Given the description of an element on the screen output the (x, y) to click on. 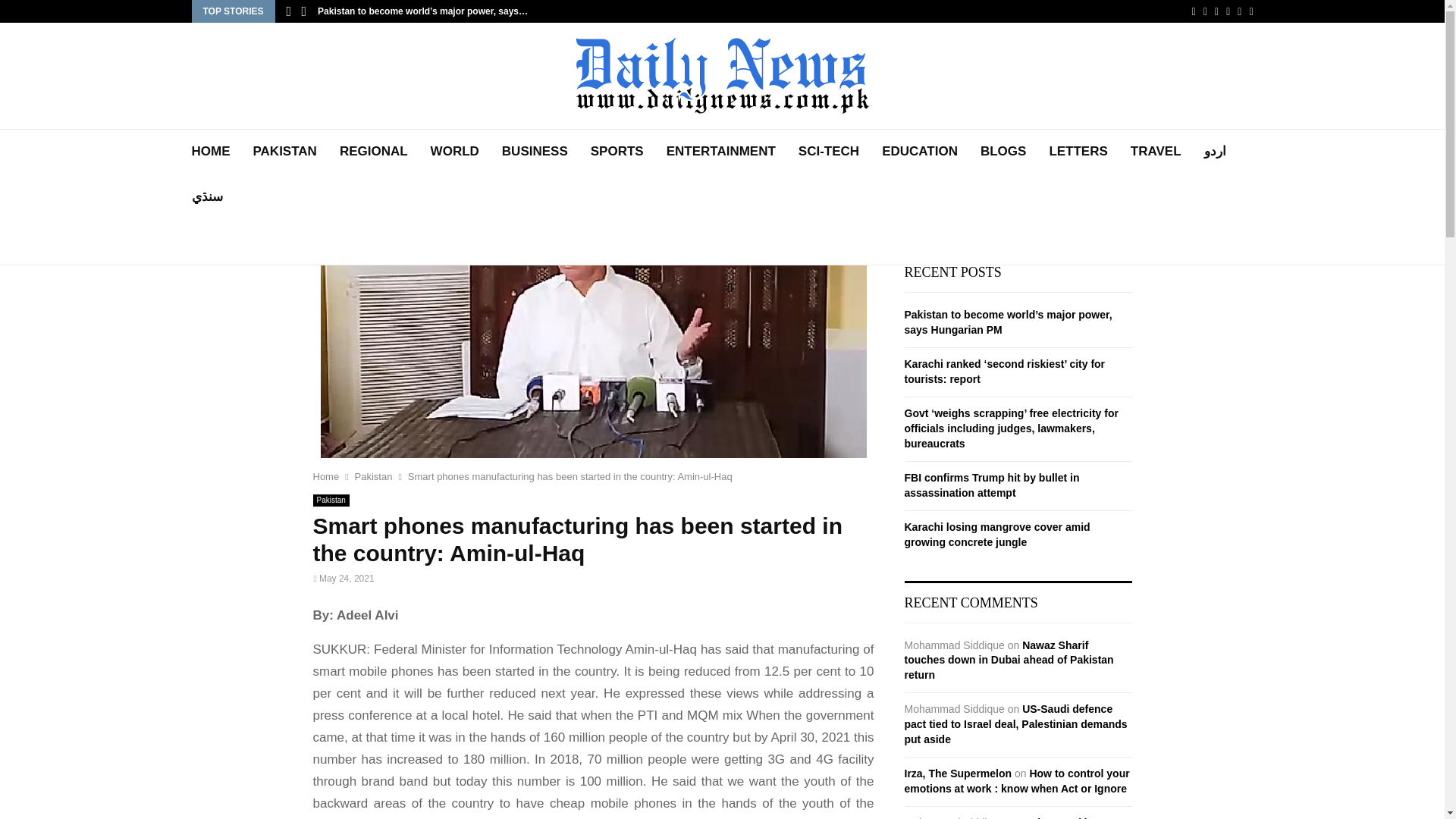
ENTERTAINMENT (721, 151)
SPORTS (617, 151)
REGIONAL (373, 151)
EDUCATION (920, 151)
BUSINESS (534, 151)
BLOGS (1002, 151)
PAKISTAN (285, 151)
SCI-TECH (828, 151)
LETTERS (1077, 151)
WORLD (454, 151)
